Given the description of an element on the screen output the (x, y) to click on. 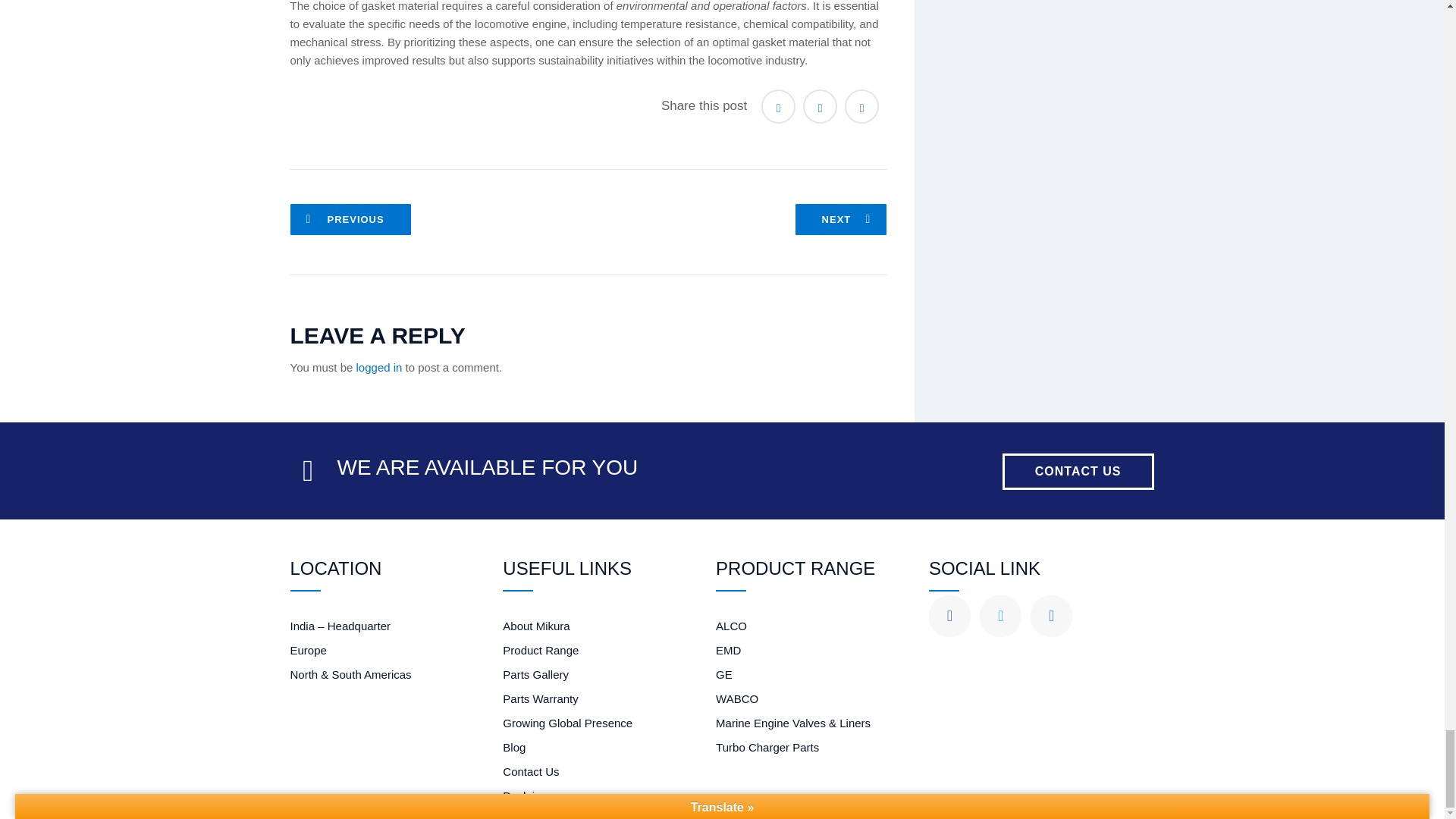
PREVIOUS (349, 219)
The Best Vintage ALCO Parts: Your Ultimate Locomotive Guide (349, 219)
NEXT (840, 219)
The Best Fuel Filters for Trains for Superior Performance (840, 219)
logged in (379, 367)
